Given the description of an element on the screen output the (x, y) to click on. 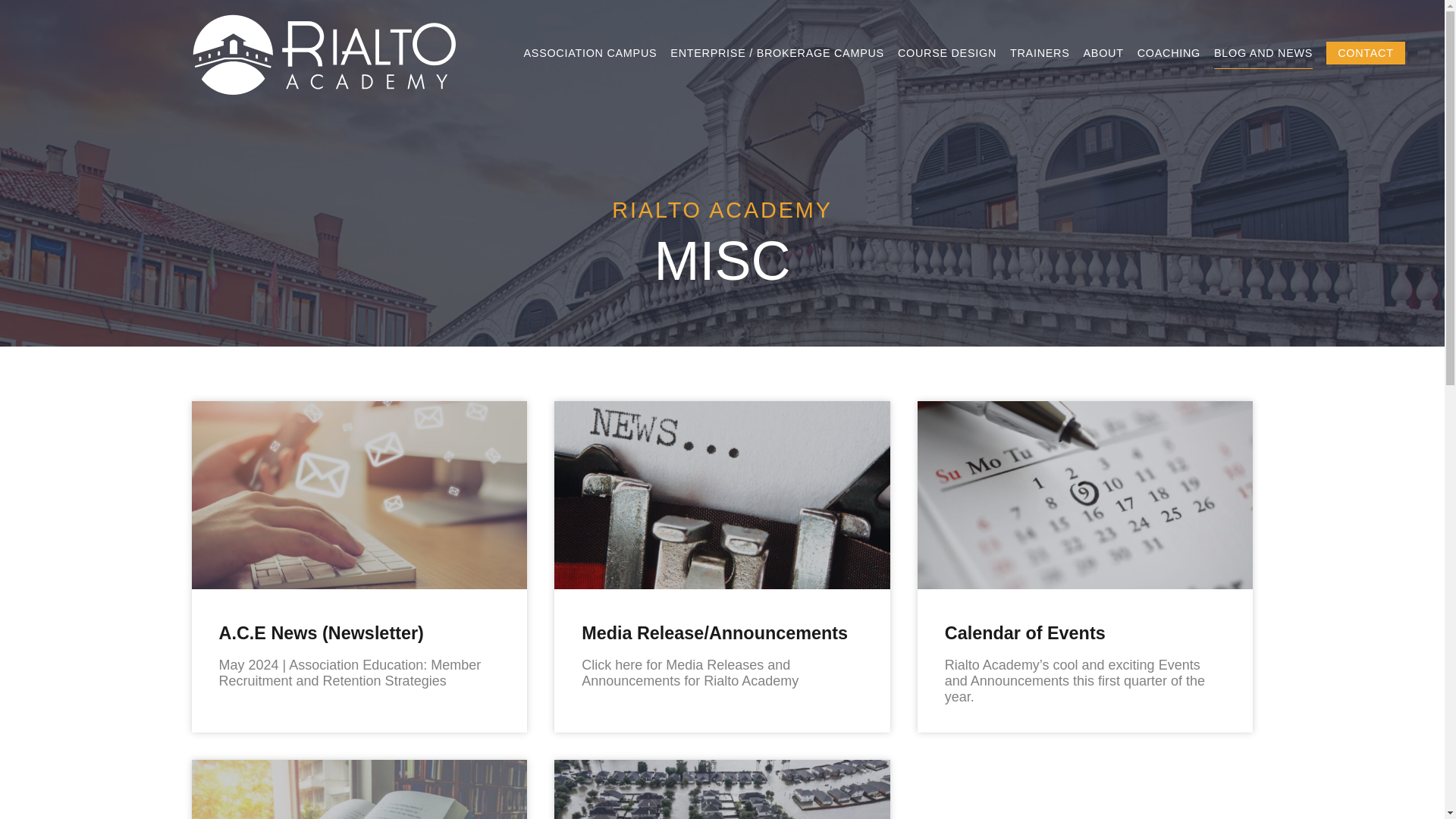
Permalink to Calendar of Events (1024, 632)
COURSE DESIGN (946, 52)
BLOG AND NEWS (1263, 52)
Rialto Academy (322, 76)
Calendar of Events (1024, 632)
COACHING (1168, 52)
TRAINERS (1040, 52)
CONTACT (1365, 52)
ABOUT (1103, 52)
ASSOCIATION CAMPUS (589, 52)
